Given the description of an element on the screen output the (x, y) to click on. 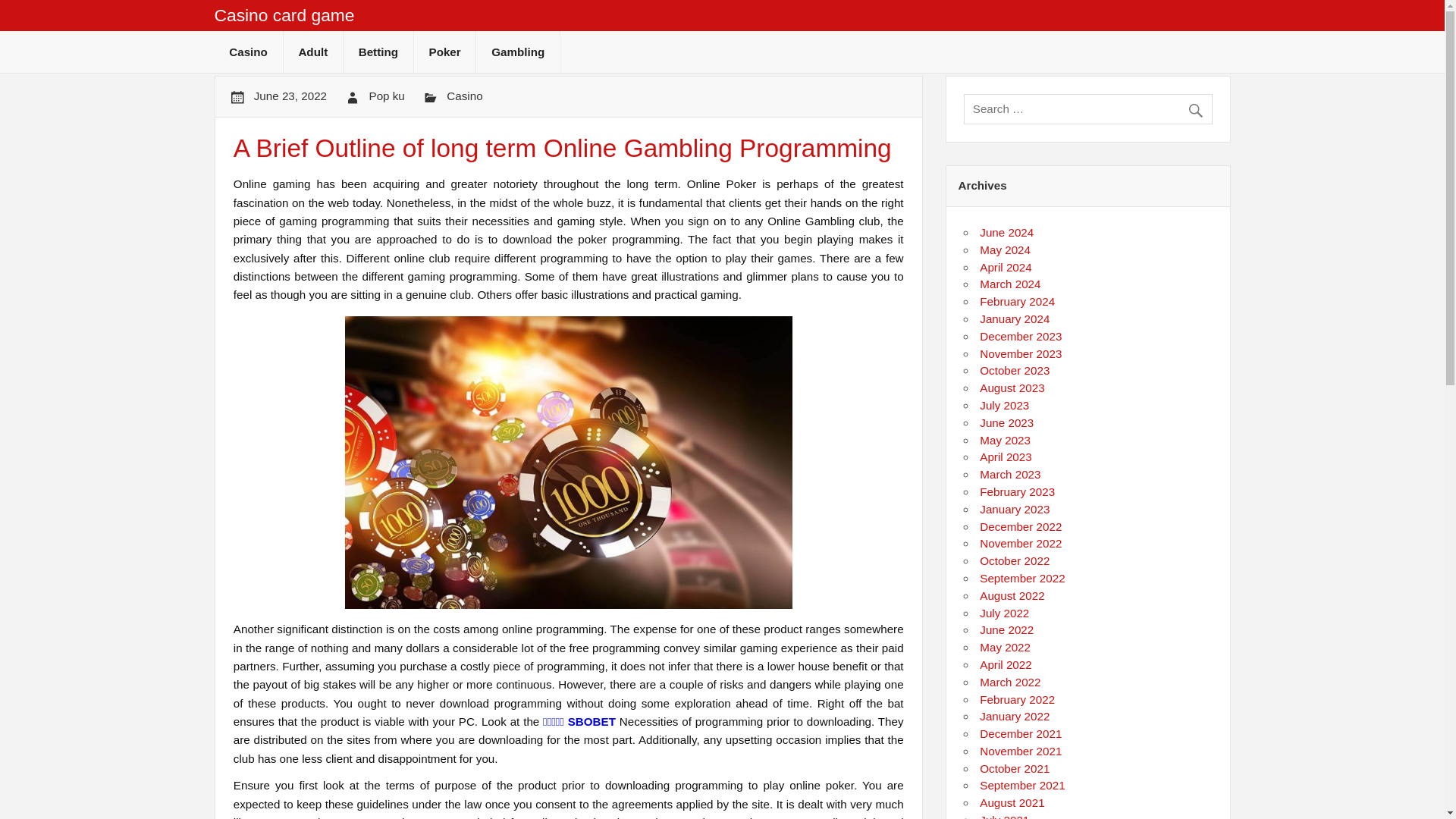
July 2023 (1004, 404)
Adult (312, 51)
May 2023 (1004, 440)
November 2023 (1020, 353)
Betting (378, 51)
5:36 am (289, 95)
January 2024 (1014, 318)
June 23, 2022 (289, 95)
June 2022 (1006, 629)
View all posts by Pop ku (386, 95)
June 2023 (1006, 422)
March 2023 (1010, 473)
February 2024 (1016, 300)
November 2022 (1020, 543)
January 2023 (1014, 508)
